Given the description of an element on the screen output the (x, y) to click on. 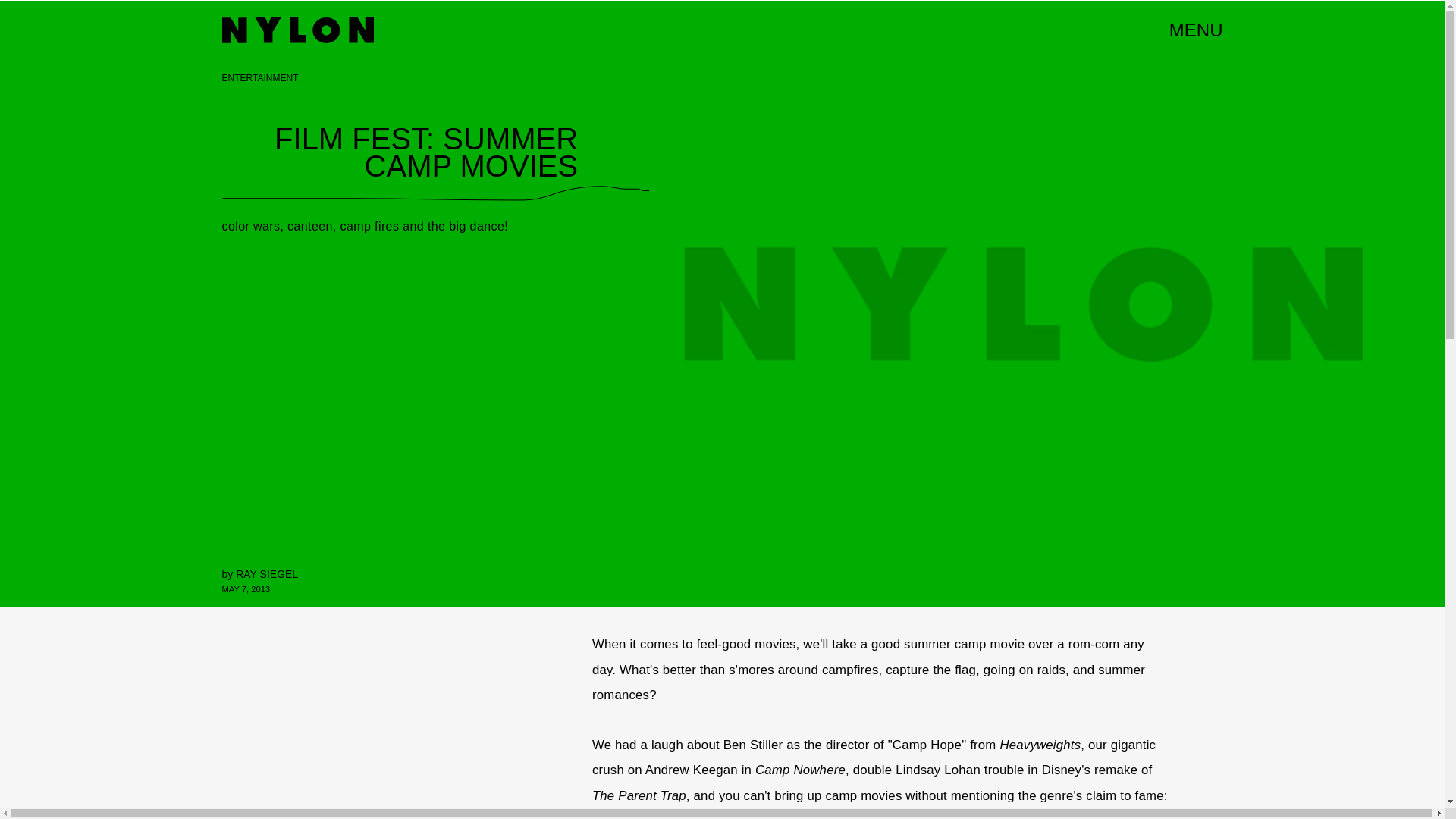
Nylon (296, 30)
